Given the description of an element on the screen output the (x, y) to click on. 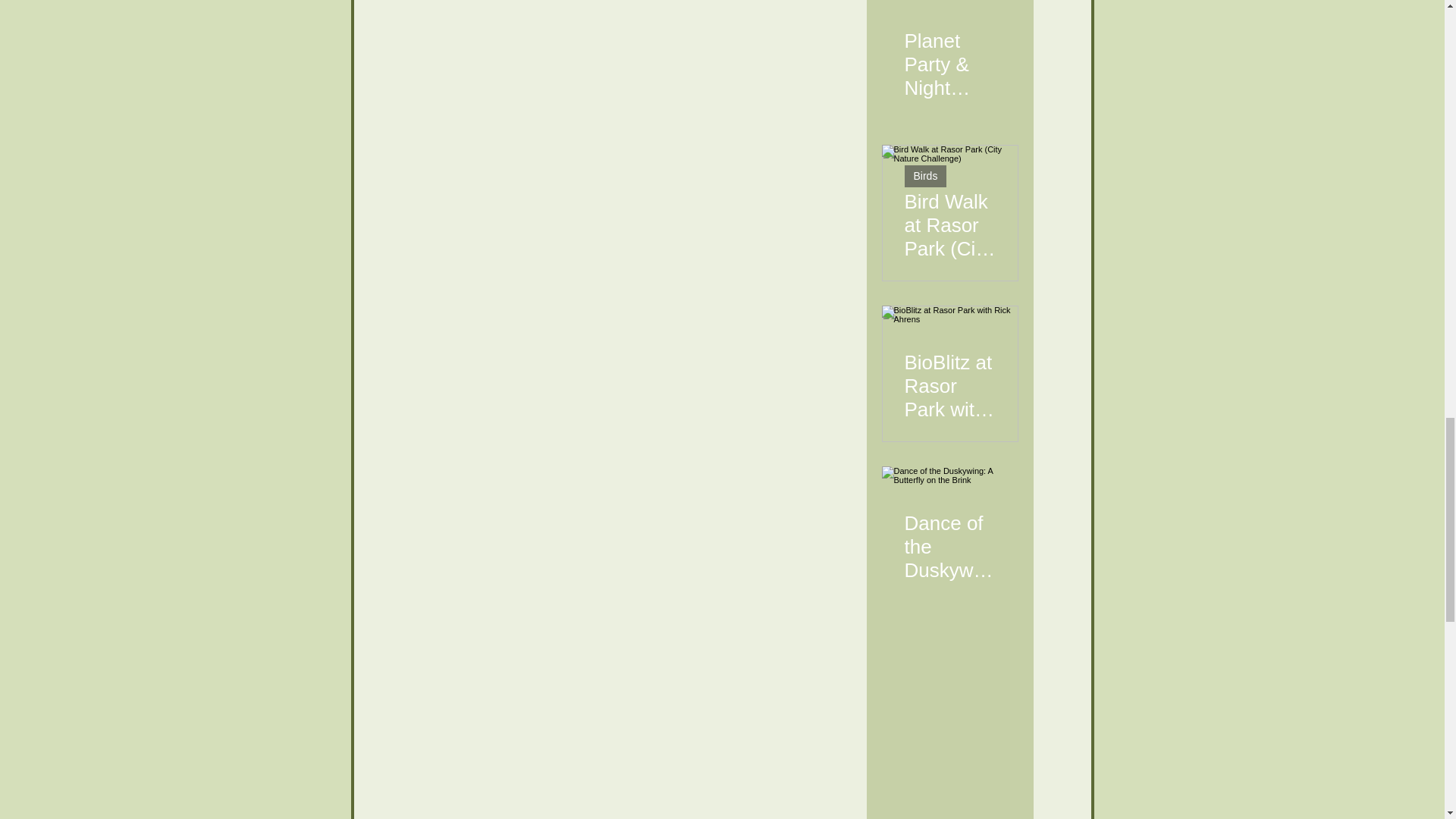
Birds (925, 176)
Dance of the Duskywing: A Butterfly on the Brink (949, 539)
BioBlitz at Rasor Park with Rick Ahrens (949, 379)
